Given the description of an element on the screen output the (x, y) to click on. 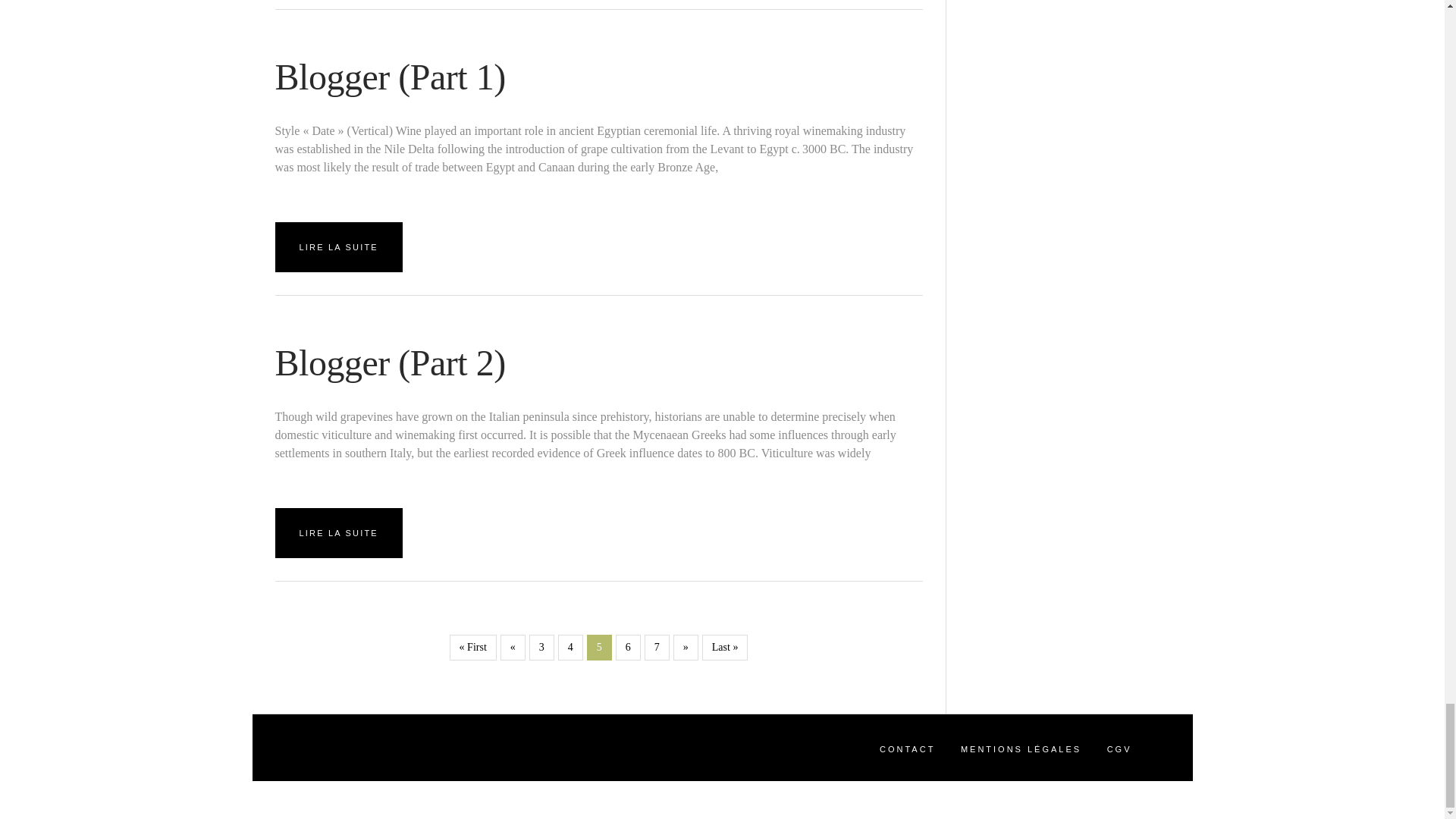
7 (657, 647)
4 (598, 647)
3 (541, 647)
6 (627, 647)
4 (570, 647)
